Given the description of an element on the screen output the (x, y) to click on. 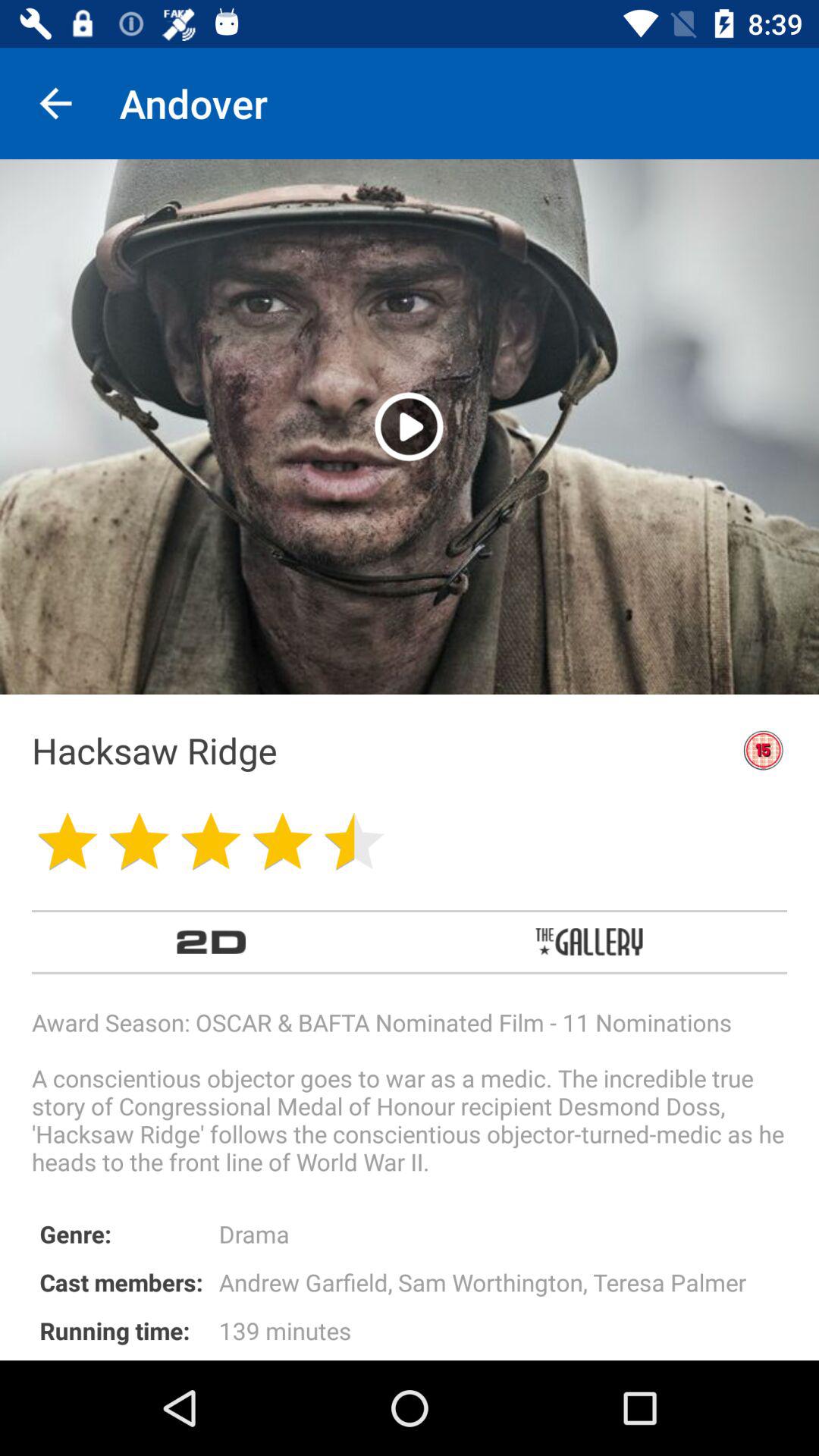
click icon above the hacksaw ridge (408, 426)
